Given the description of an element on the screen output the (x, y) to click on. 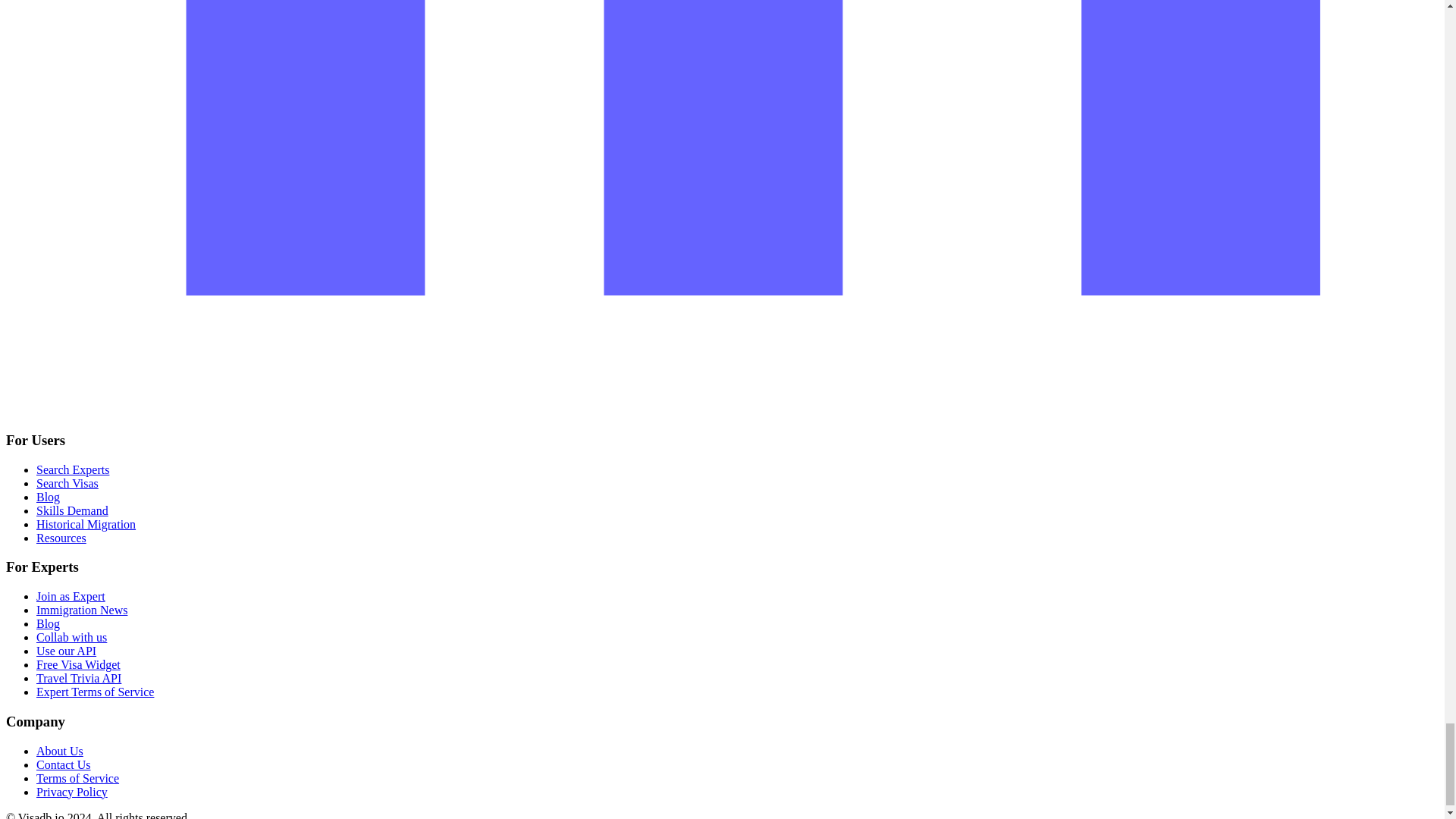
Terms of Service (77, 778)
Privacy Policy (71, 791)
Blog (47, 496)
About Us (59, 750)
Skills Demand (71, 510)
Contact Us (63, 764)
Collab with us (71, 636)
Travel Trivia API (78, 677)
Free Visa Widget (78, 664)
Historical Migration (85, 523)
